Given the description of an element on the screen output the (x, y) to click on. 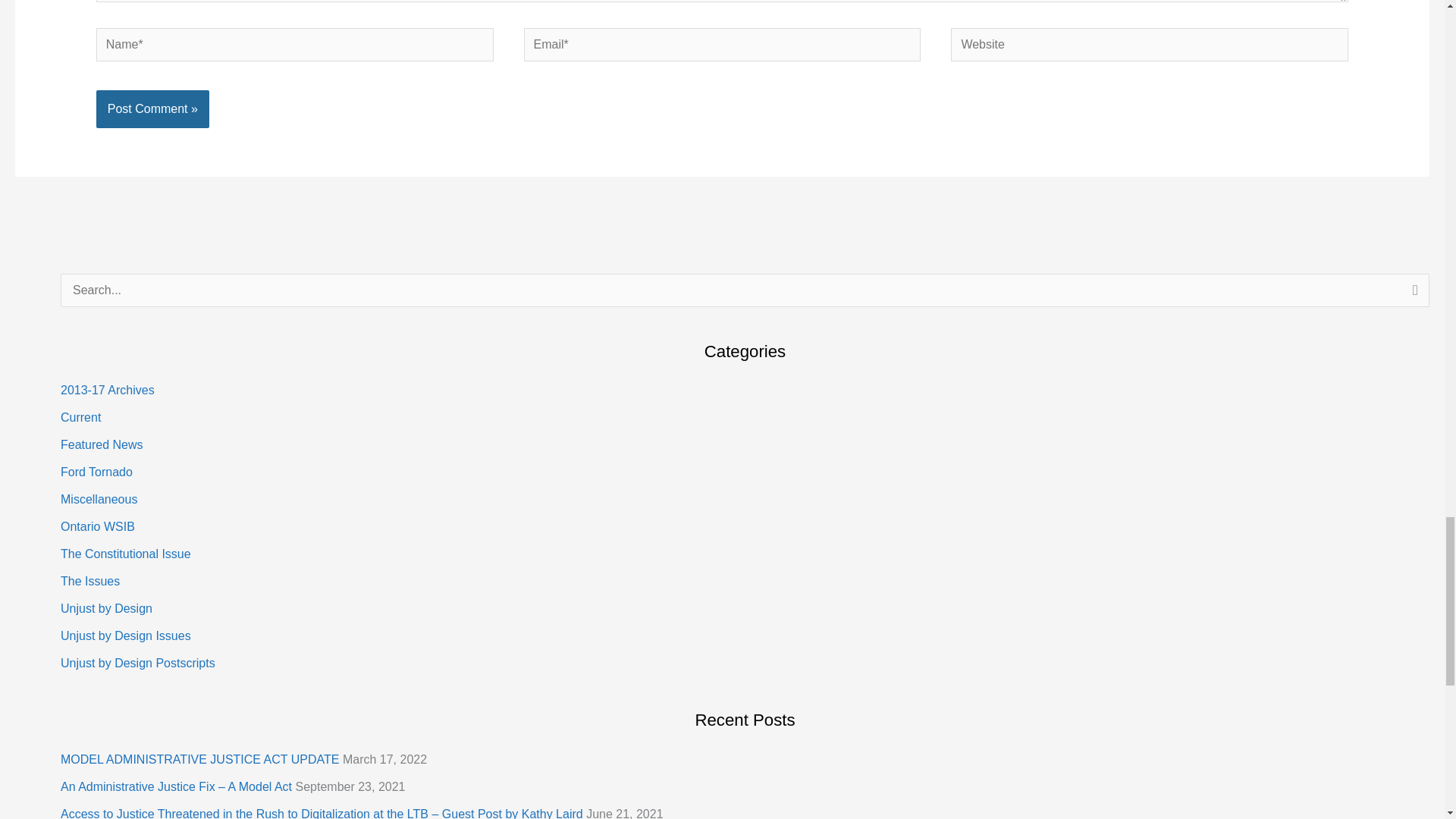
MODEL ADMINISTRATIVE JUSTICE ACT UPDATE (200, 758)
Featured News (101, 444)
Unjust by Design (106, 608)
Search (1411, 294)
Current (80, 417)
The Constitutional Issue (125, 553)
Ontario WSIB (98, 526)
Unjust by Design Issues (125, 635)
The Issues (90, 581)
Search (1411, 294)
Ford Tornado (96, 472)
2013-17 Archives (107, 390)
Miscellaneous (98, 499)
Unjust by Design Postscripts (138, 662)
Search (1411, 294)
